Given the description of an element on the screen output the (x, y) to click on. 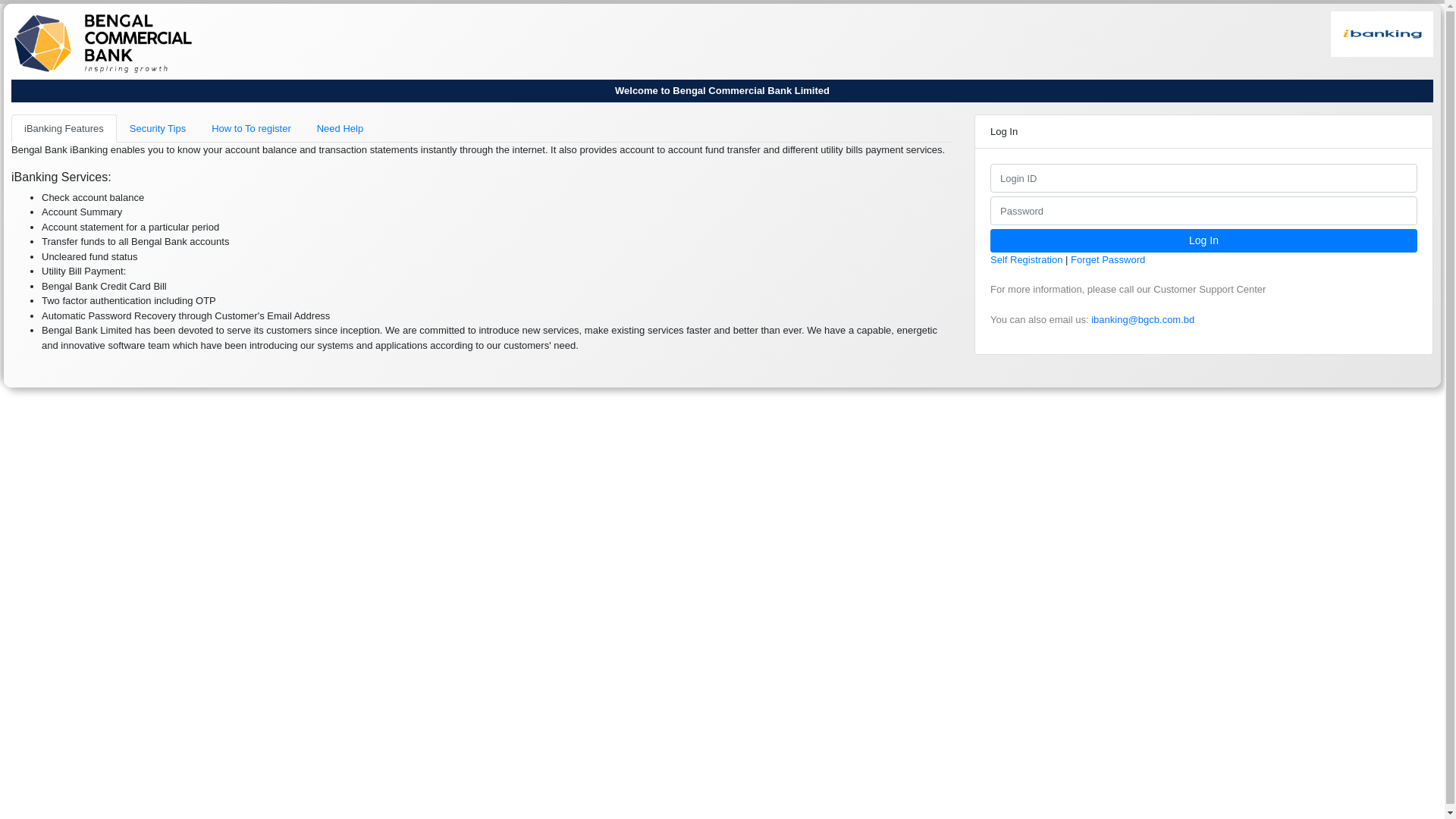
Log In Element type: text (1203, 240)
Self Registration Element type: text (1027, 259)
How to To register Element type: text (251, 127)
Need Help Element type: text (340, 127)
iBanking Features Element type: text (63, 127)
Security Tips Element type: text (157, 127)
Forget Password Element type: text (1107, 259)
ibanking@bgcb.com.bd Element type: text (1142, 319)
